Given the description of an element on the screen output the (x, y) to click on. 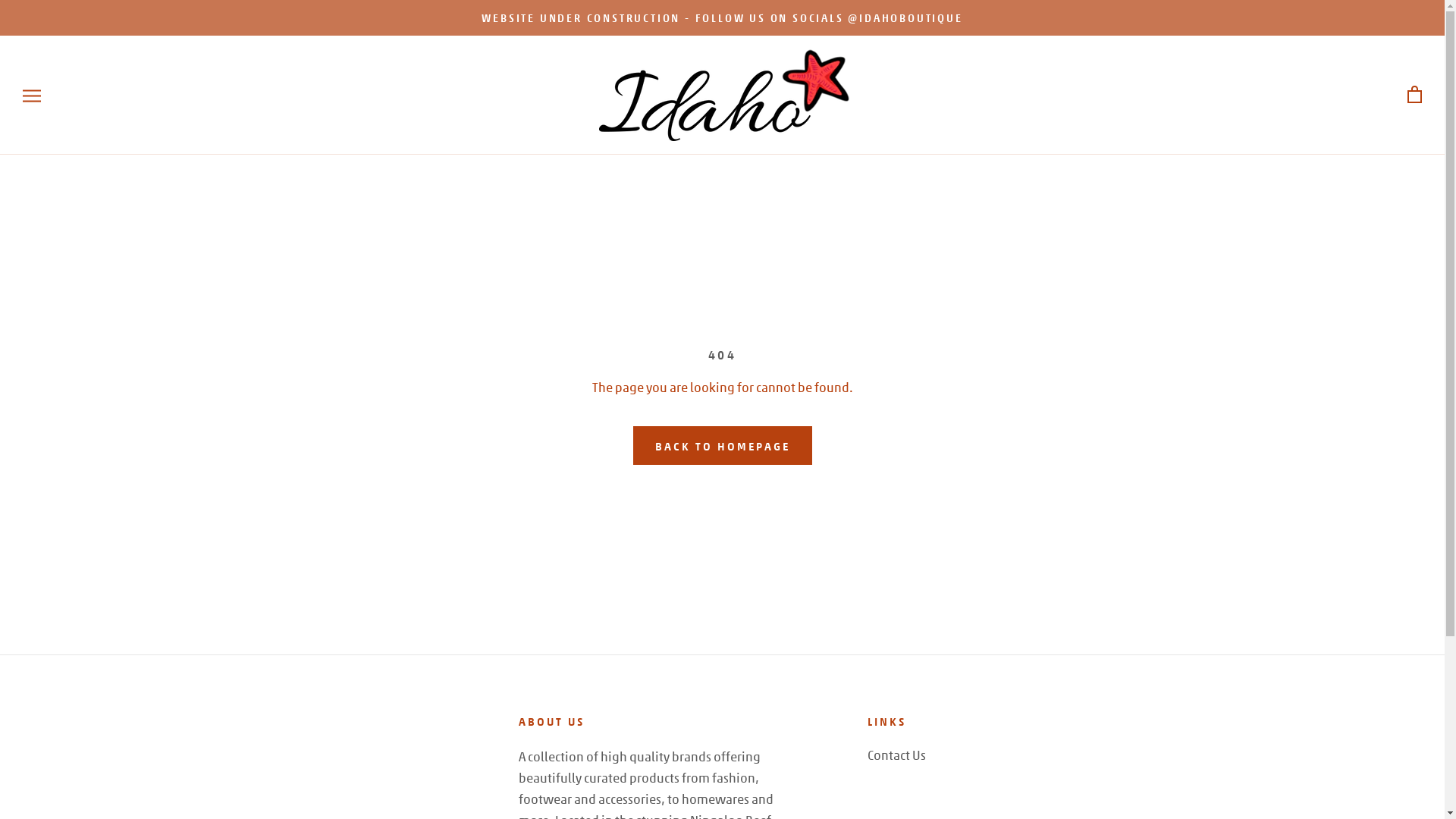
Contact Us Element type: text (896, 755)
BACK TO HOMEPAGE Element type: text (721, 445)
